Given the description of an element on the screen output the (x, y) to click on. 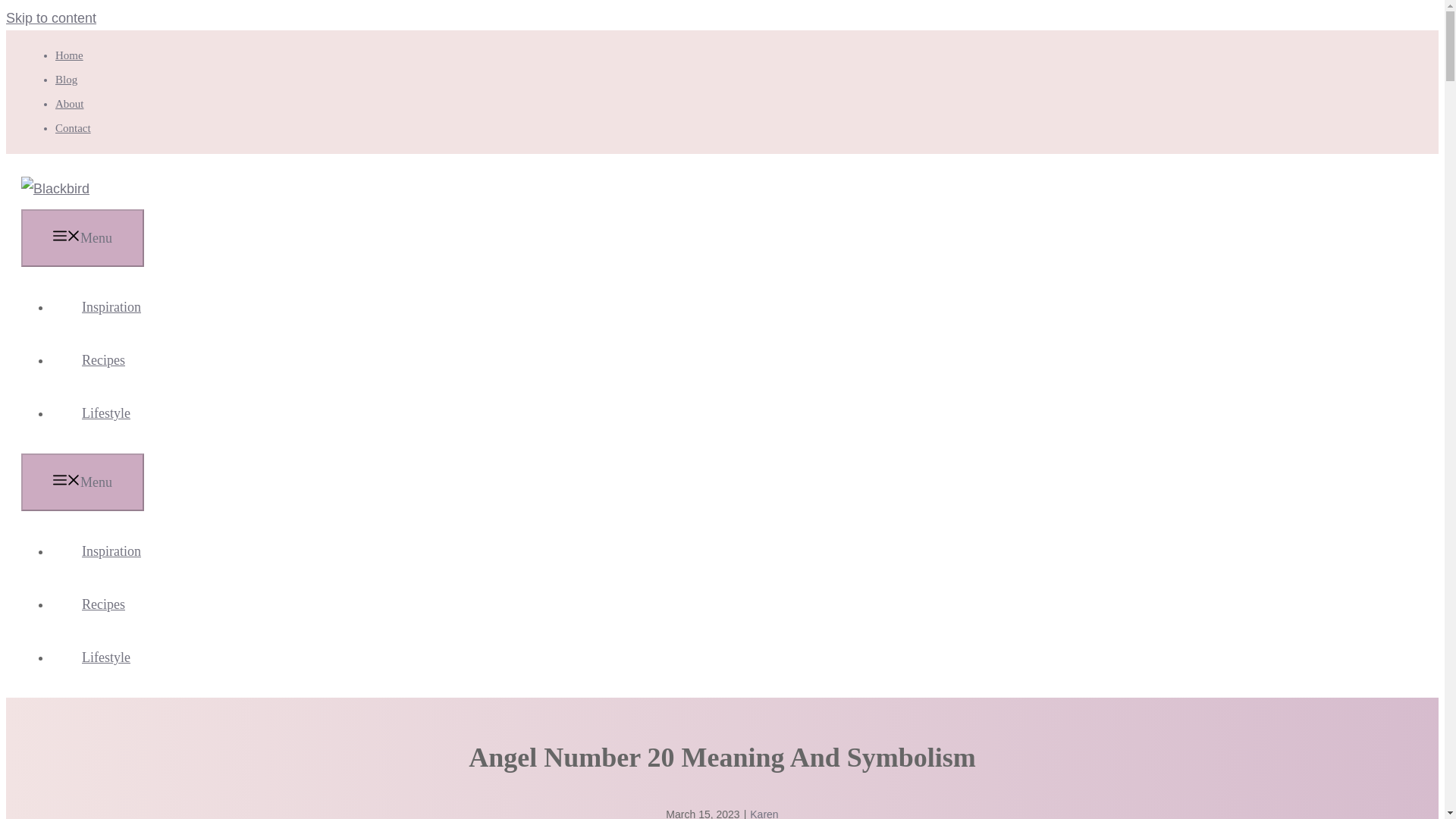
Karen (763, 813)
Skip to content (50, 17)
Contact (72, 128)
Blog (66, 79)
Recipes (102, 604)
Inspiration (110, 550)
Skip to content (50, 17)
Lifestyle (105, 657)
Inspiration (110, 306)
Lifestyle (105, 412)
